Given the description of an element on the screen output the (x, y) to click on. 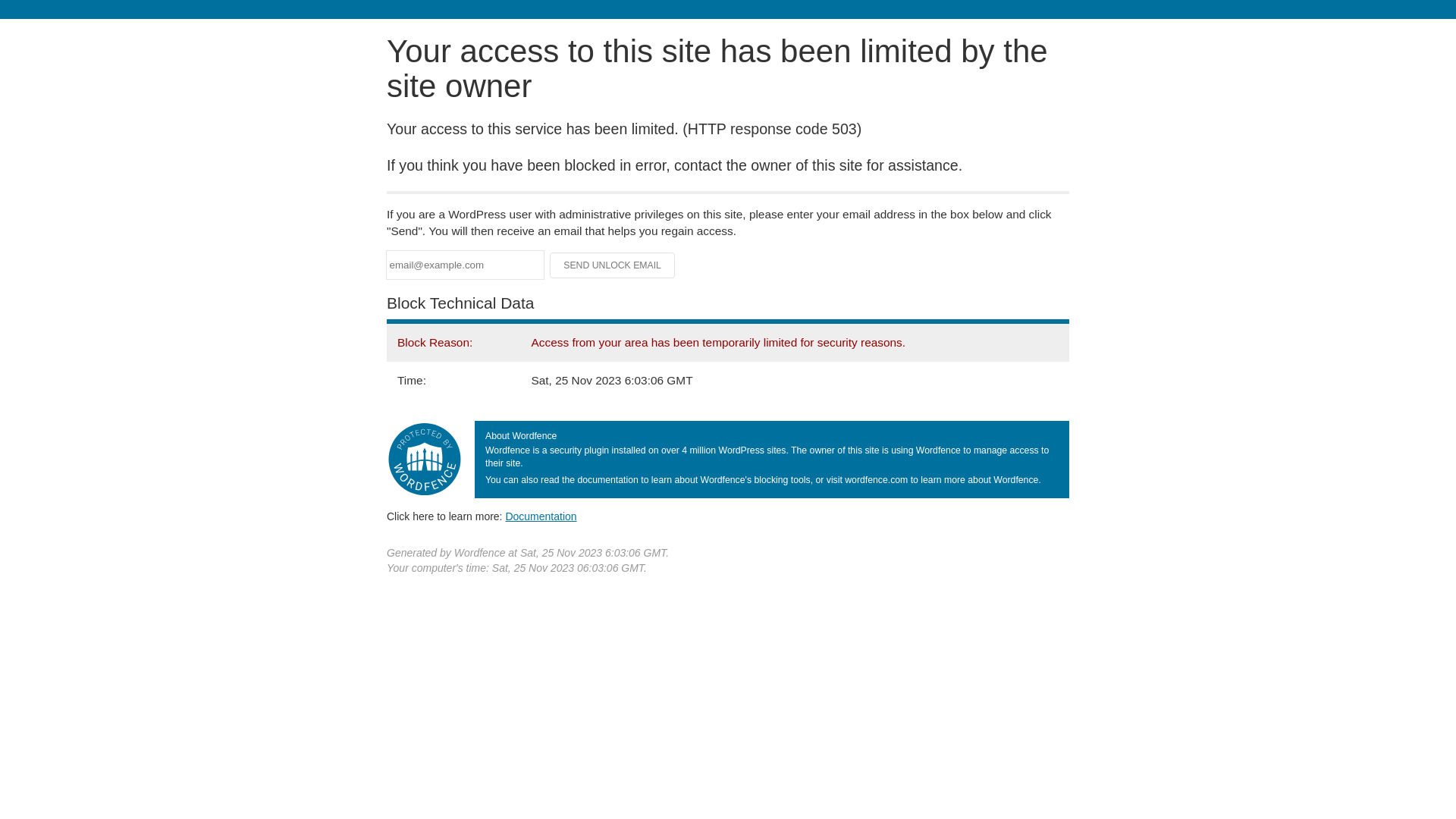
Documentation Element type: text (540, 516)
Send Unlock Email Element type: text (612, 265)
